Given the description of an element on the screen output the (x, y) to click on. 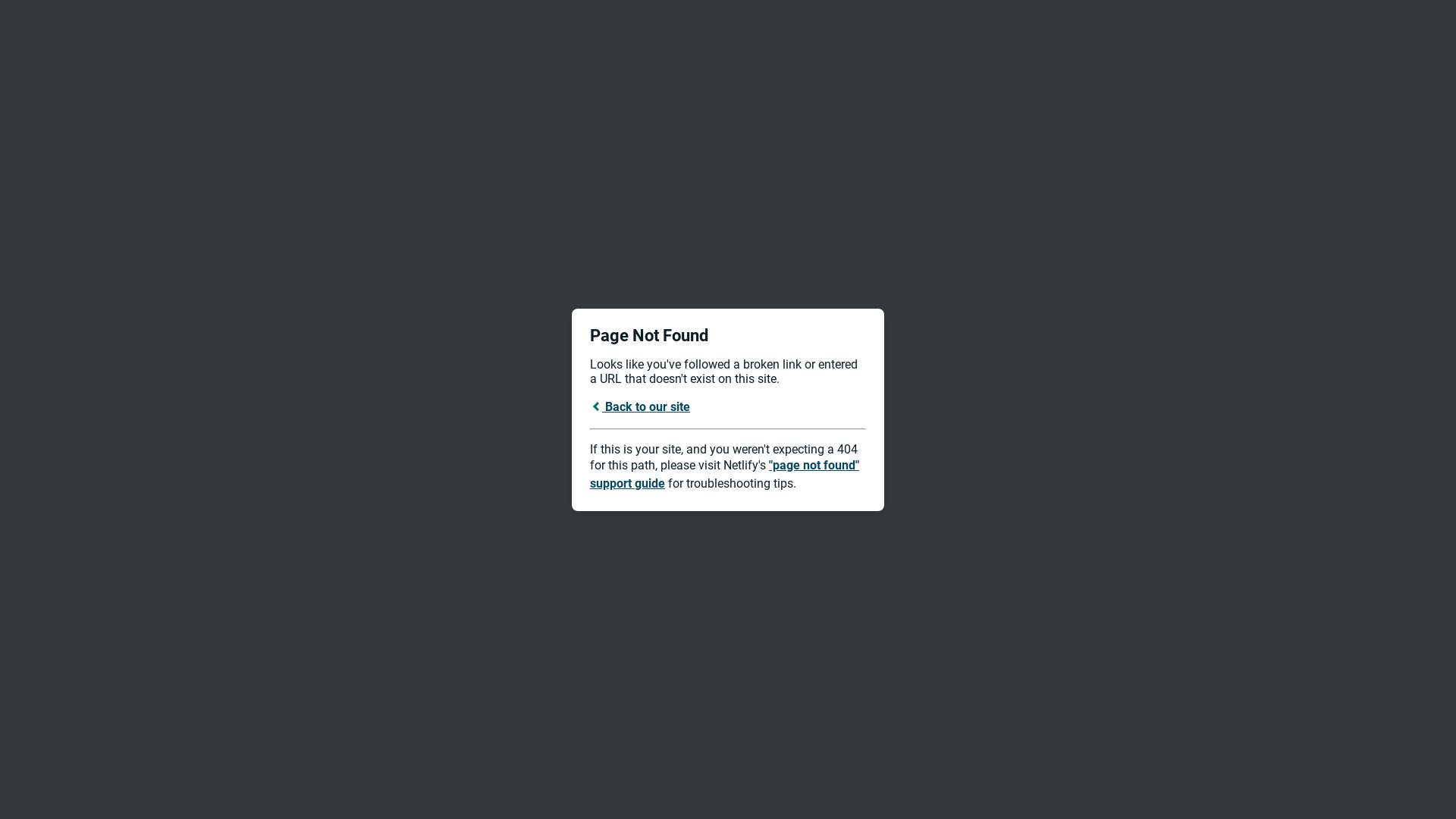
Back to our site Element type: text (639, 405)
"page not found" support guide Element type: text (724, 474)
